Given the description of an element on the screen output the (x, y) to click on. 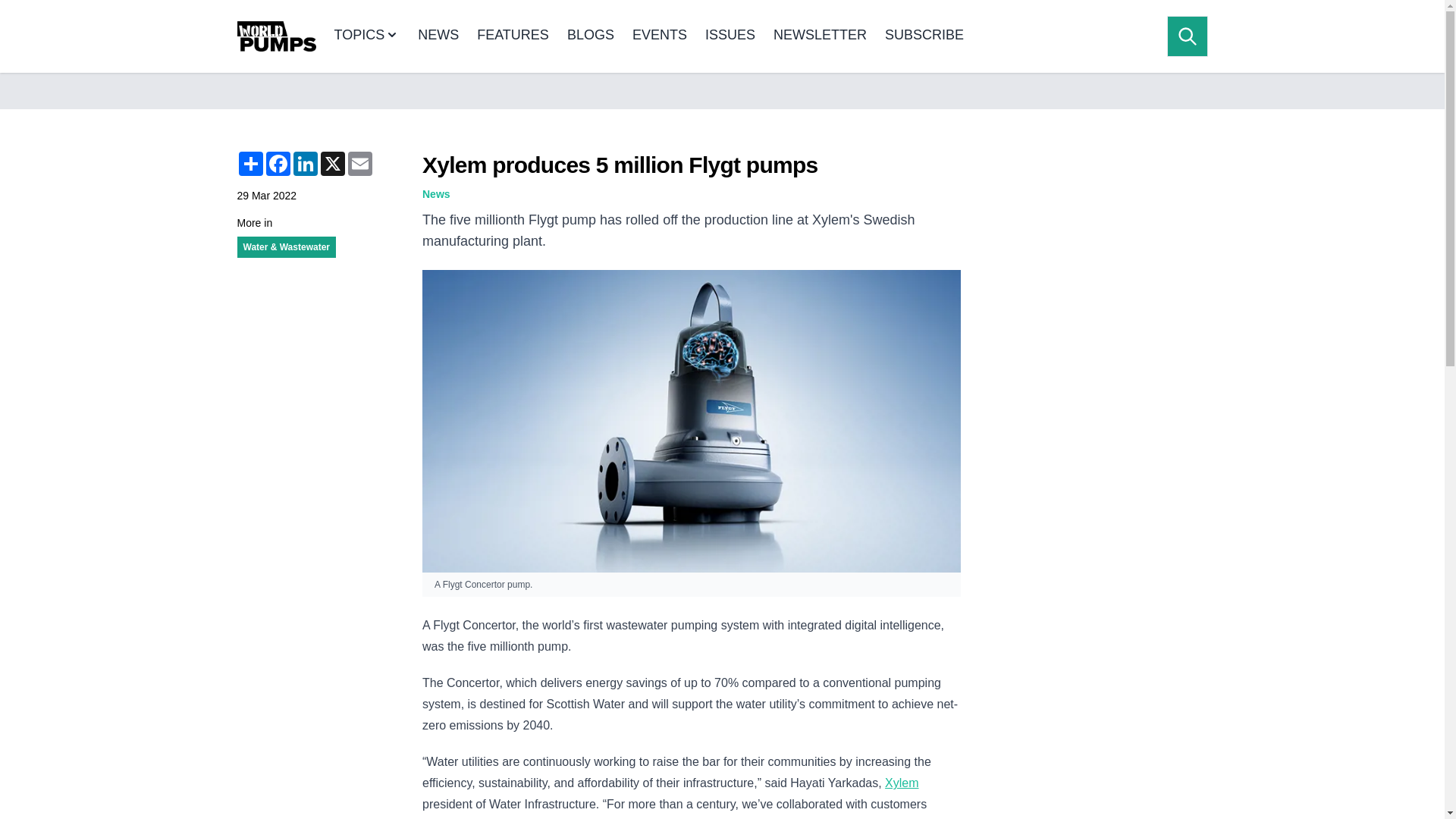
EVENTS (659, 36)
Facebook (277, 163)
NEWSLETTER (819, 36)
X (332, 163)
FEATURES (512, 36)
BLOGS (590, 36)
TOPICS (365, 36)
SUBSCRIBE (924, 36)
LinkedIn (304, 163)
Email (359, 163)
